Given the description of an element on the screen output the (x, y) to click on. 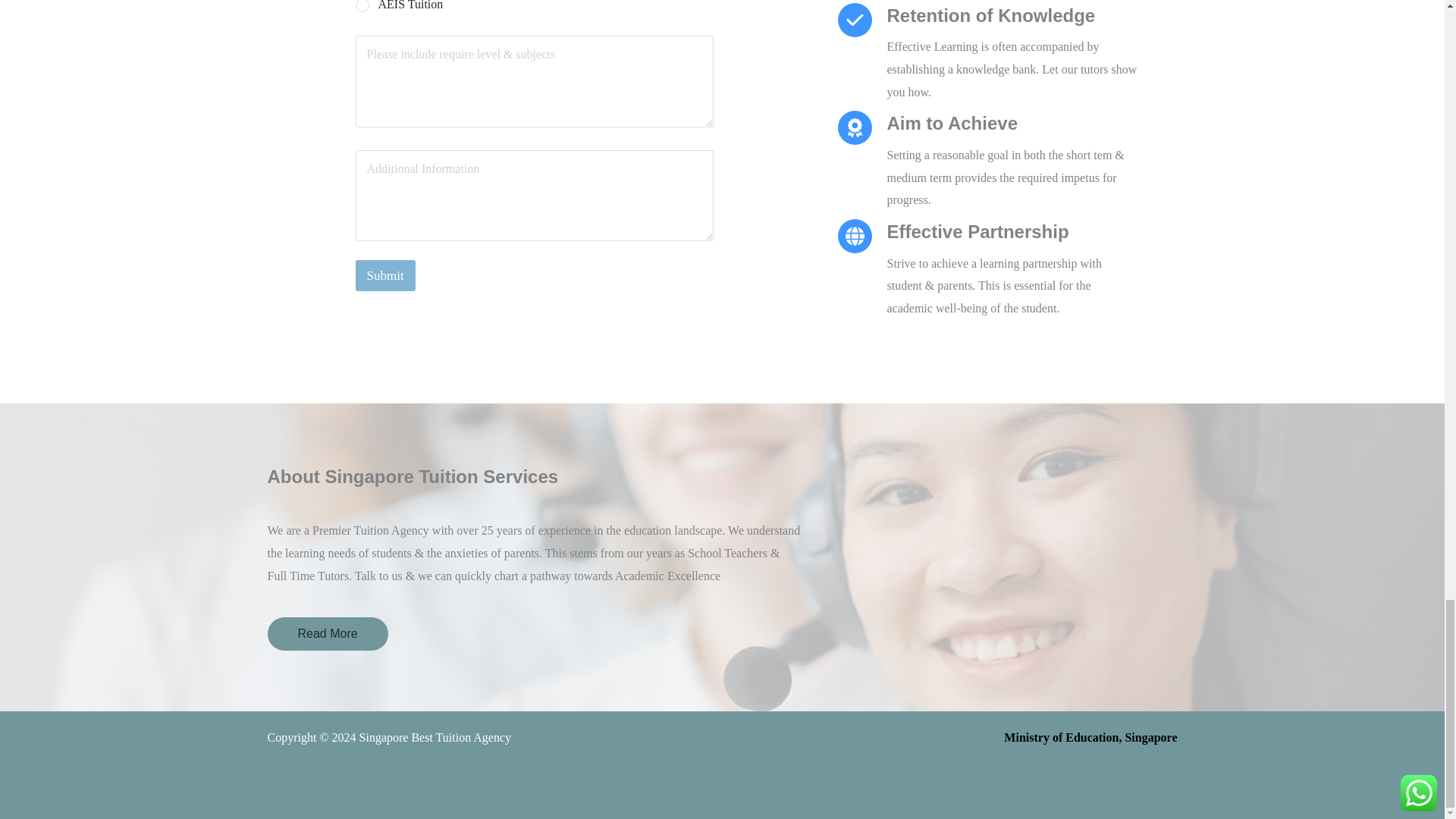
AEIS Tuition (362, 6)
Read More (326, 633)
Submit (384, 275)
Ministry of Education, Singapore (1090, 737)
